Given the description of an element on the screen output the (x, y) to click on. 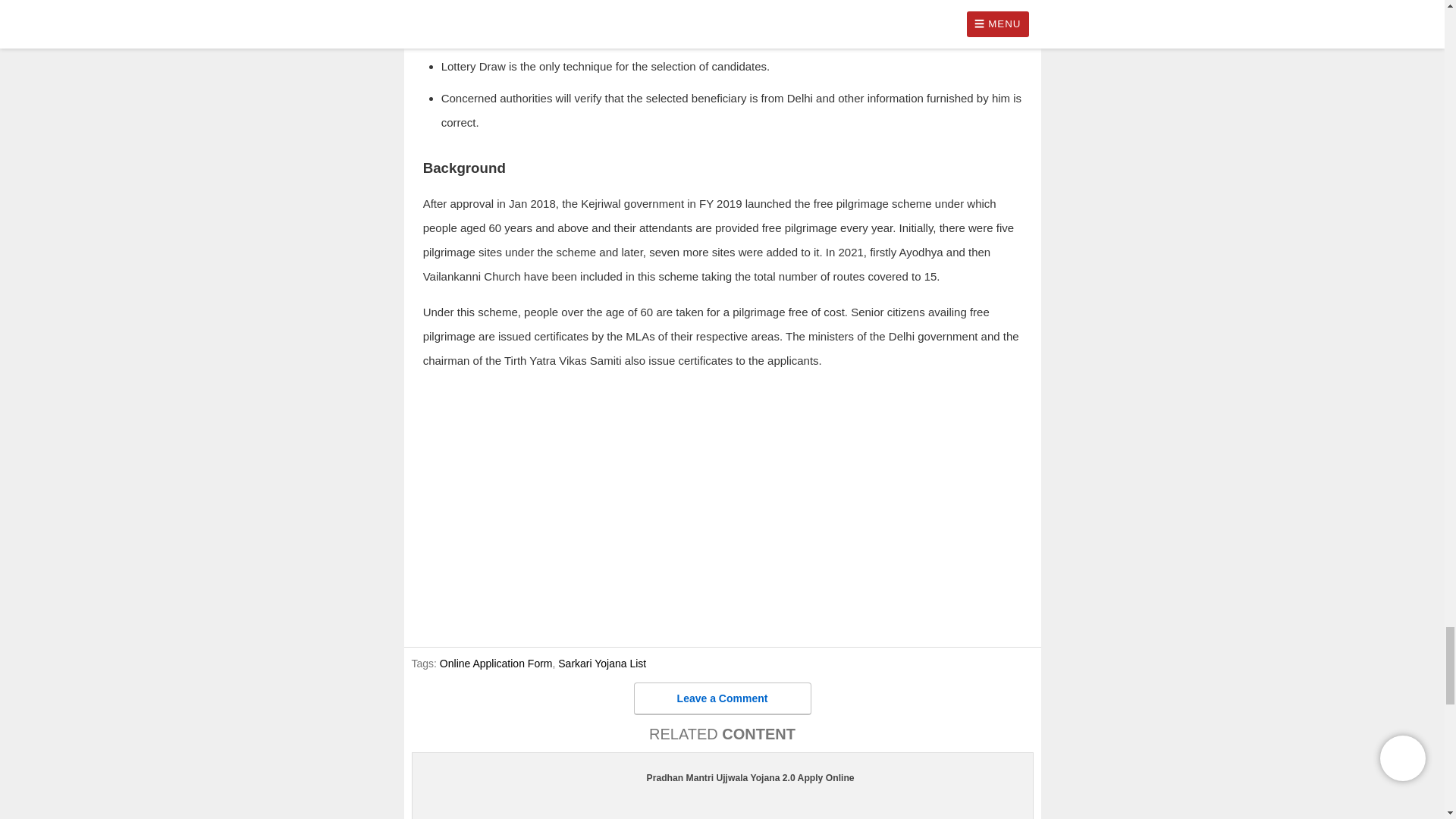
Leave a Comment (721, 698)
Sarkari Yojana List (601, 663)
Pradhan Mantri Ujjwala Yojana 2.0 Apply Online (721, 778)
Online Application Form (496, 663)
